Given the description of an element on the screen output the (x, y) to click on. 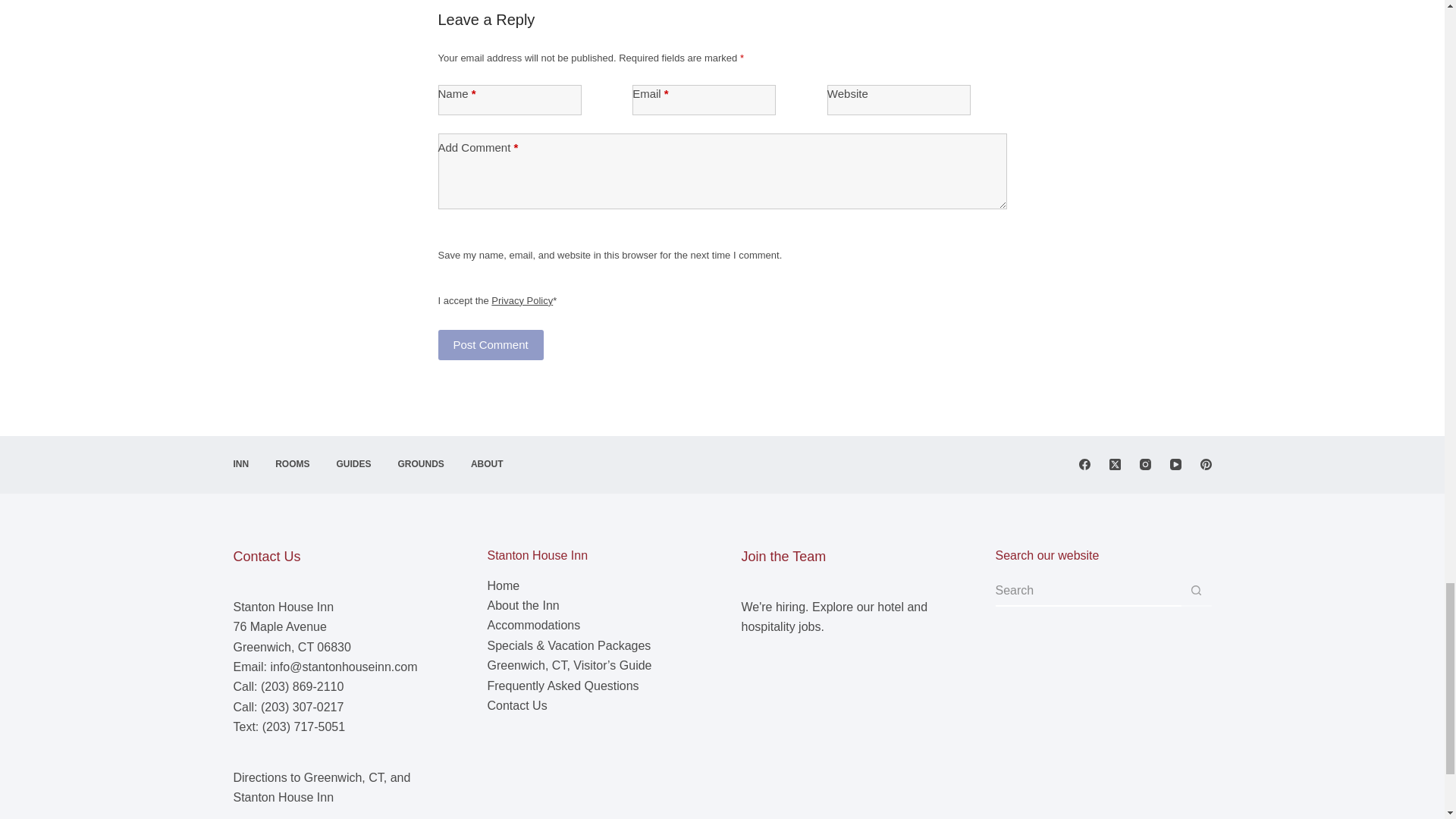
Search for... (1087, 591)
yes (443, 236)
on (443, 282)
